Given the description of an element on the screen output the (x, y) to click on. 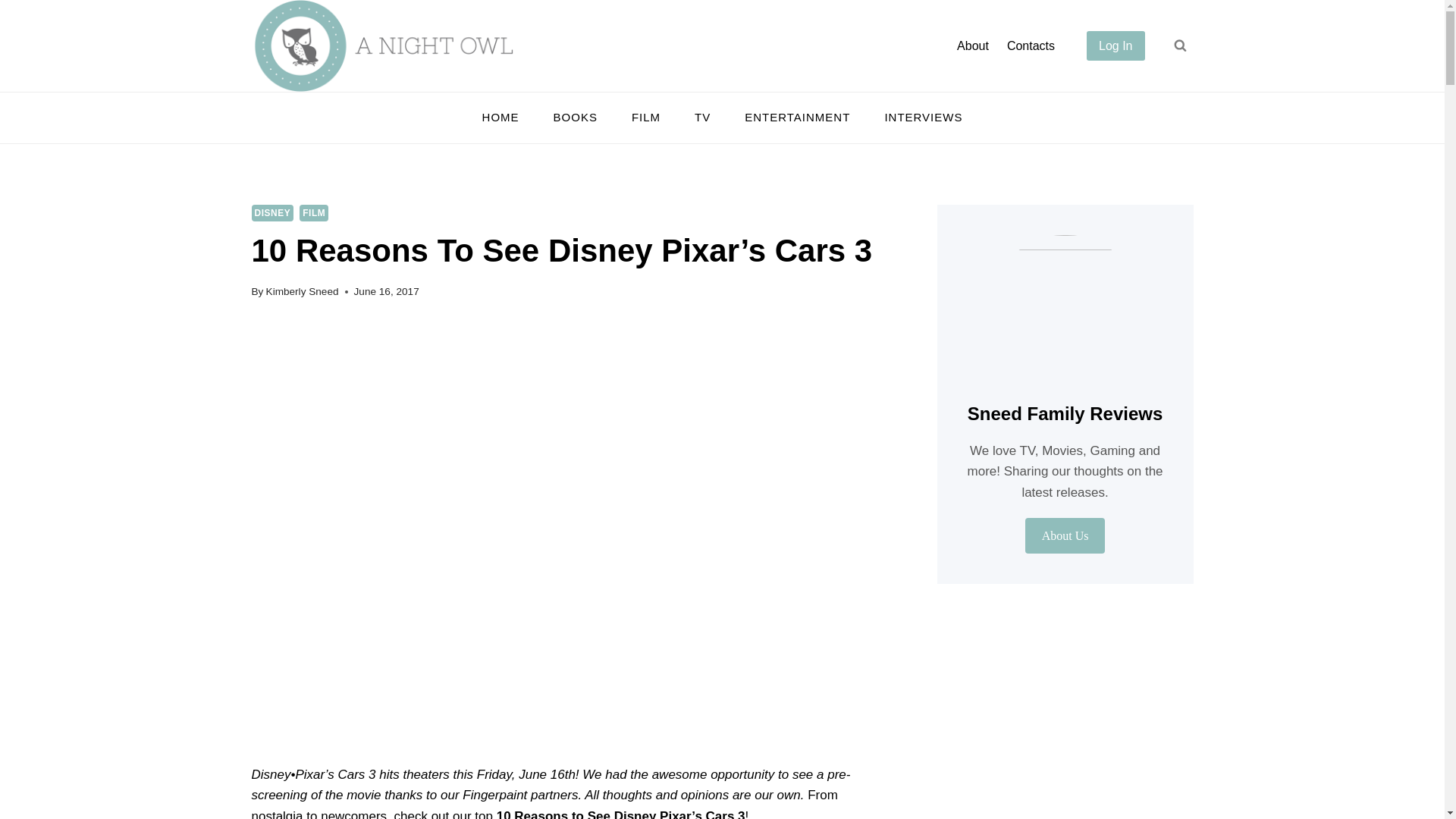
Contacts (1030, 45)
BOOKS (574, 117)
TV (703, 117)
HOME (499, 117)
About (972, 45)
INTERVIEWS (923, 117)
ENTERTAINMENT (797, 117)
Log In (1115, 45)
Kimberly Sneed (302, 291)
FILM (645, 117)
FILM (314, 212)
DISNEY (272, 212)
